Given the description of an element on the screen output the (x, y) to click on. 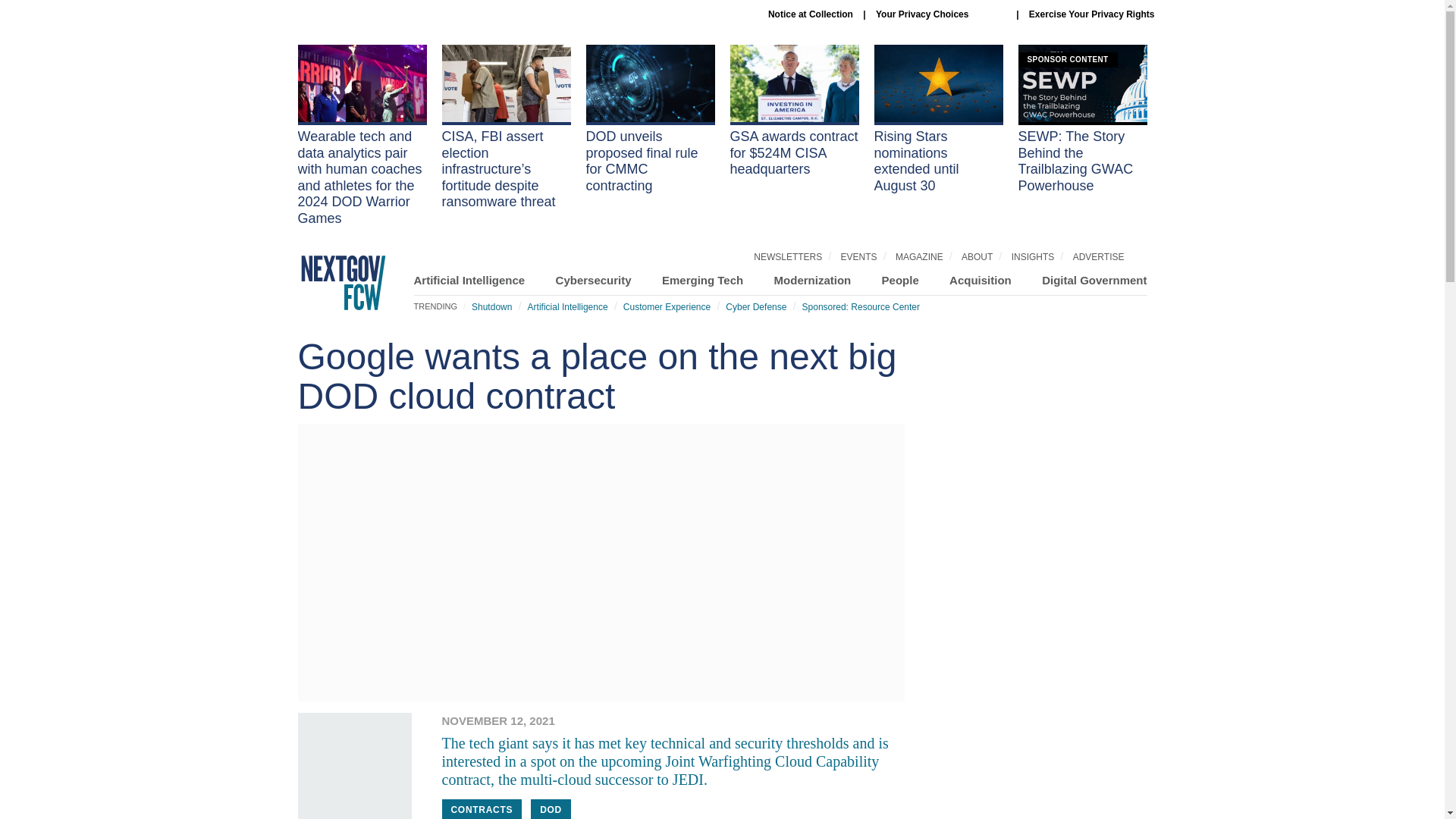
Emerging Tech (702, 279)
Artificial Intelligence (567, 307)
People (900, 279)
NEWSLETTERS (788, 256)
Modernization (812, 279)
Digital Government (1094, 279)
ADVERTISE (1098, 256)
Artificial Intelligence (469, 279)
INSIGHTS (1032, 256)
Sponsored: Resource Center (861, 307)
